Given the description of an element on the screen output the (x, y) to click on. 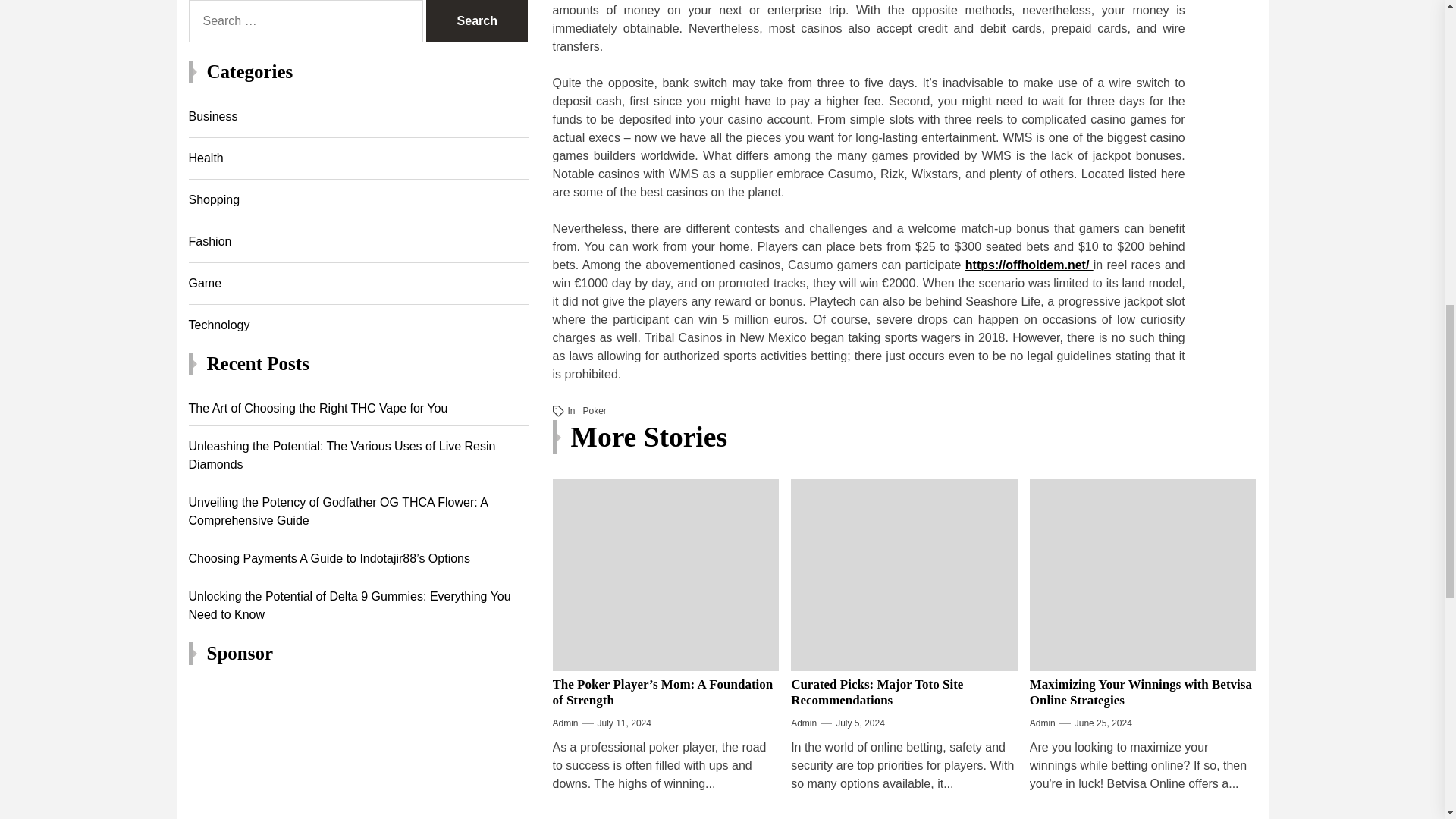
Curated Picks: Major Toto Site Recommendations (876, 691)
Poker (595, 410)
Admin (803, 723)
Admin (564, 723)
July 11, 2024 (623, 723)
